Given the description of an element on the screen output the (x, y) to click on. 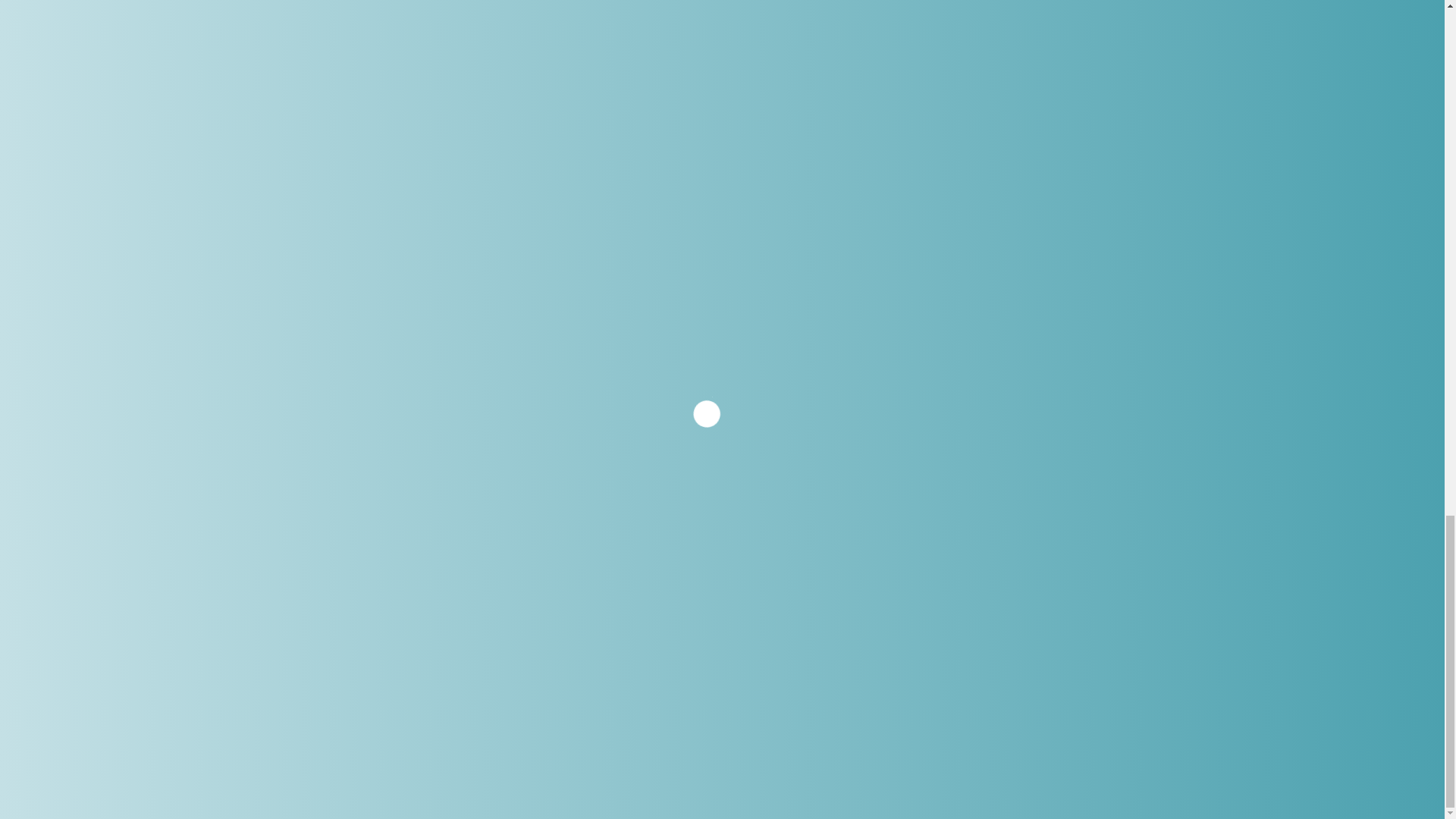
Futuready Media (911, 717)
